Given the description of an element on the screen output the (x, y) to click on. 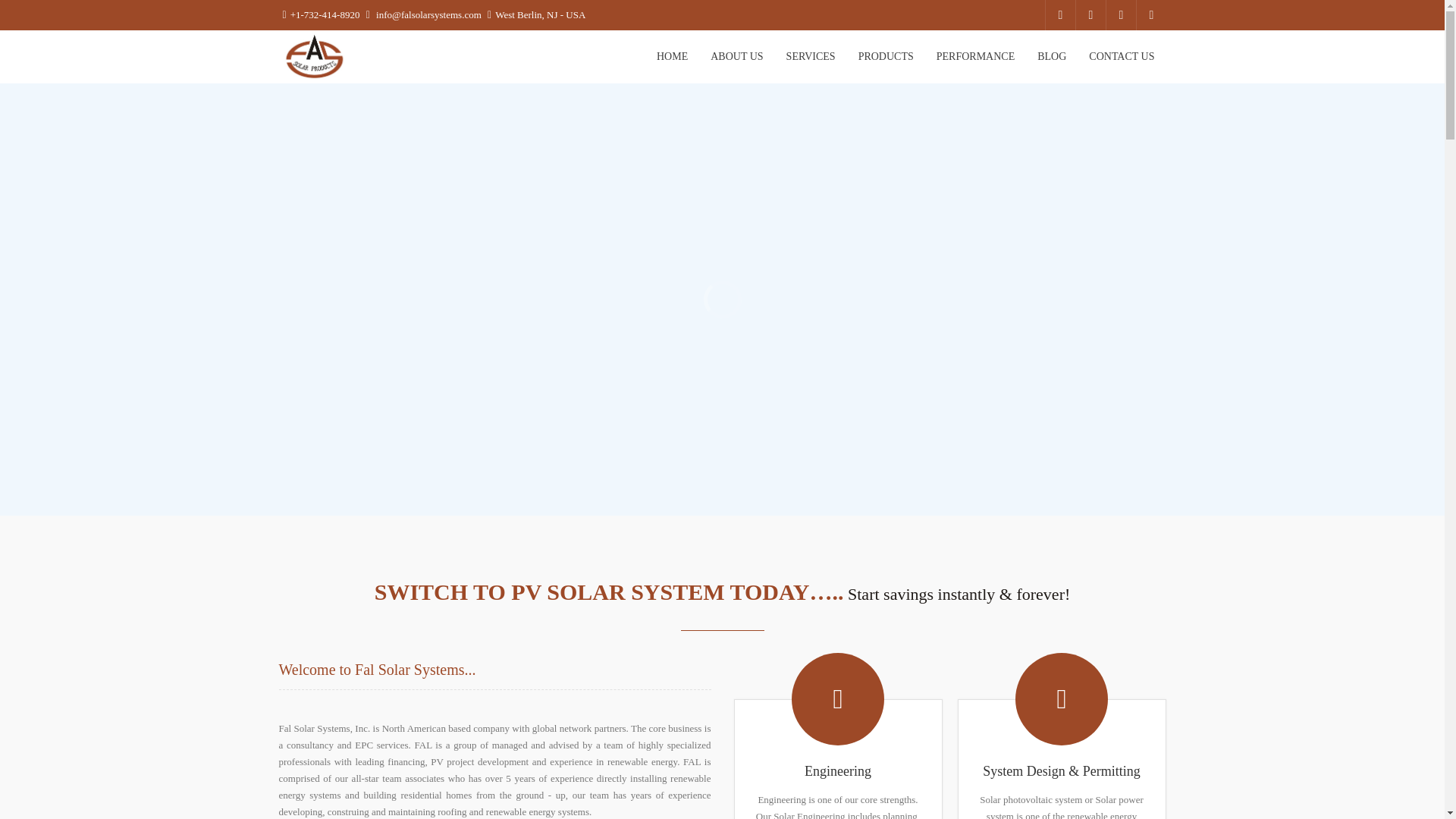
PERFORMANCE (975, 56)
facebook (1060, 15)
SERVICES (810, 56)
CONTACT US (1121, 56)
linkedin (1120, 15)
google (1150, 15)
twitter (1090, 15)
HOME (671, 56)
BLOG (1051, 56)
ABOUT US (736, 56)
PRODUCTS (885, 56)
